Given the description of an element on the screen output the (x, y) to click on. 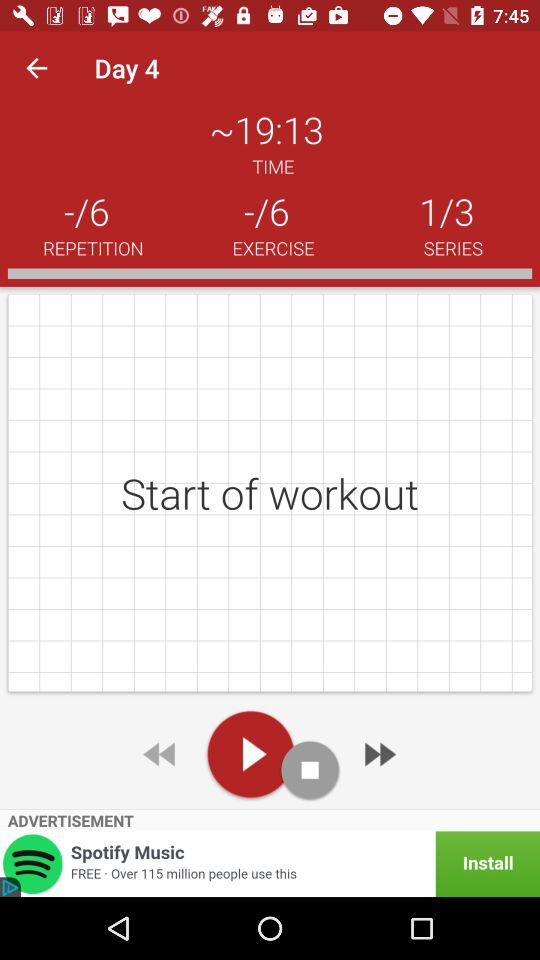
pause (309, 769)
